Given the description of an element on the screen output the (x, y) to click on. 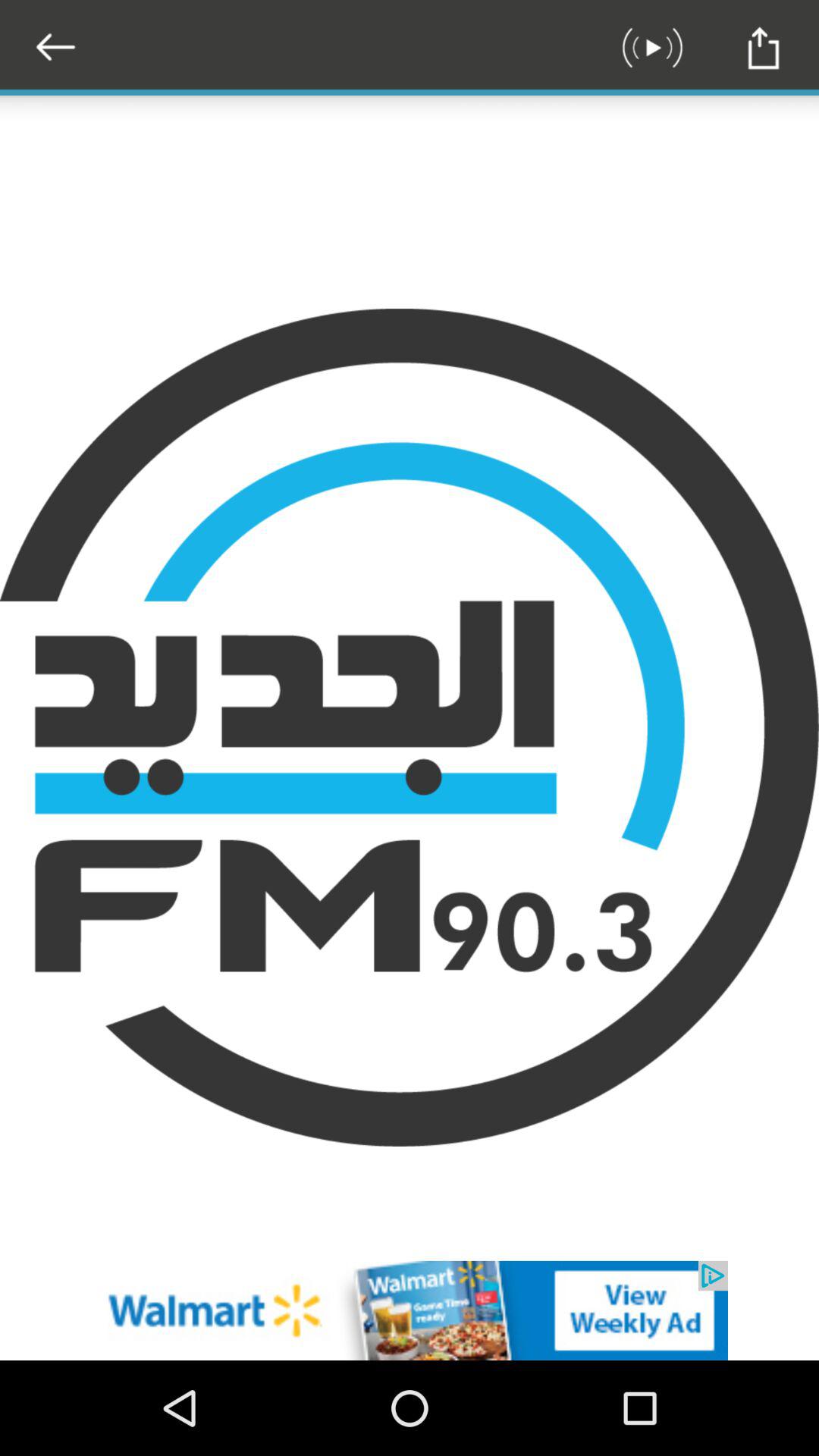
advetisment page (409, 1310)
